Given the description of an element on the screen output the (x, y) to click on. 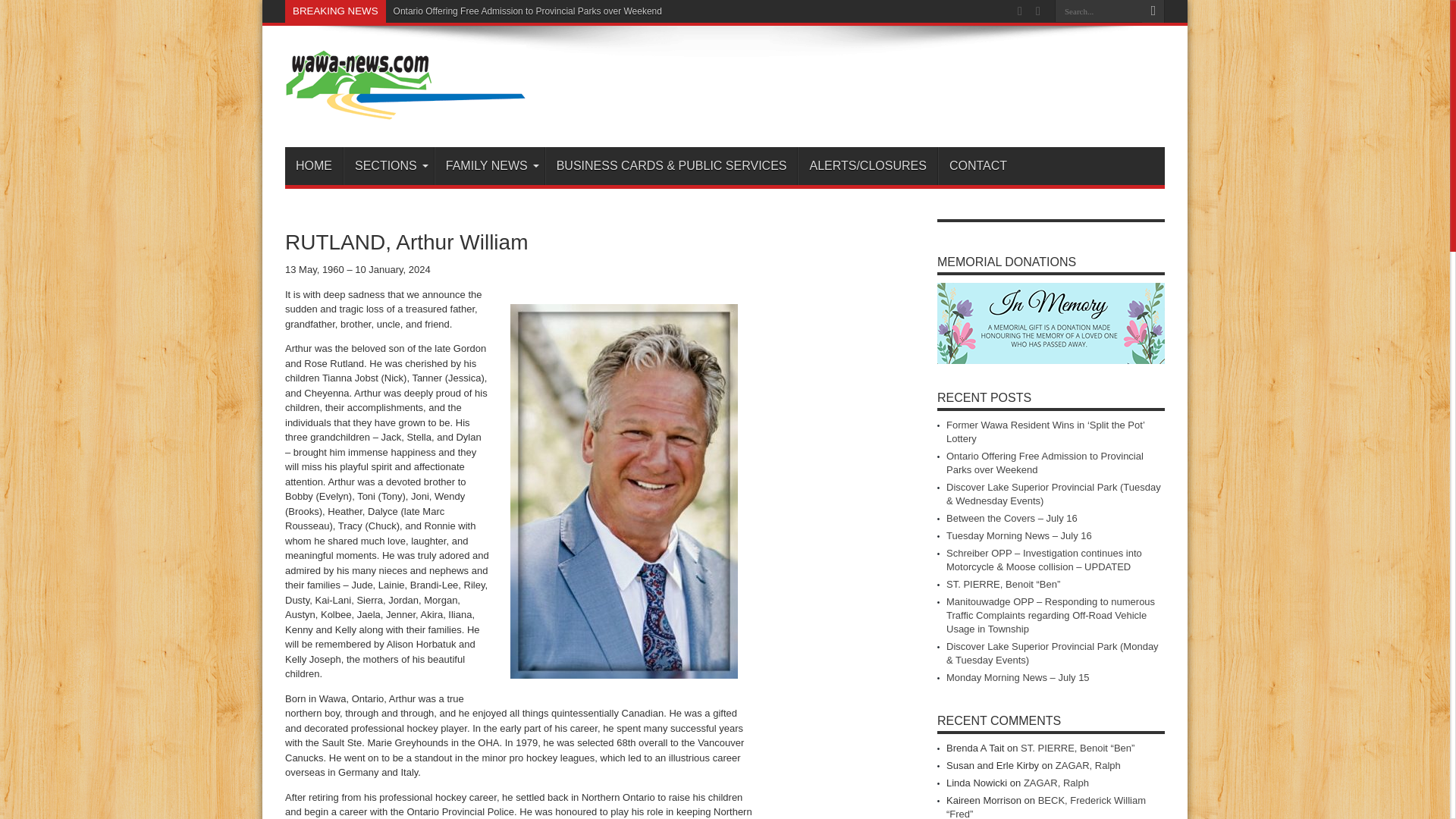
SECTIONS (388, 166)
Search... (1097, 11)
FAMILY NEWS (488, 166)
CONTACT (977, 166)
HOME (313, 166)
Search (1152, 11)
Wawa-news.com (405, 108)
